Given the description of an element on the screen output the (x, y) to click on. 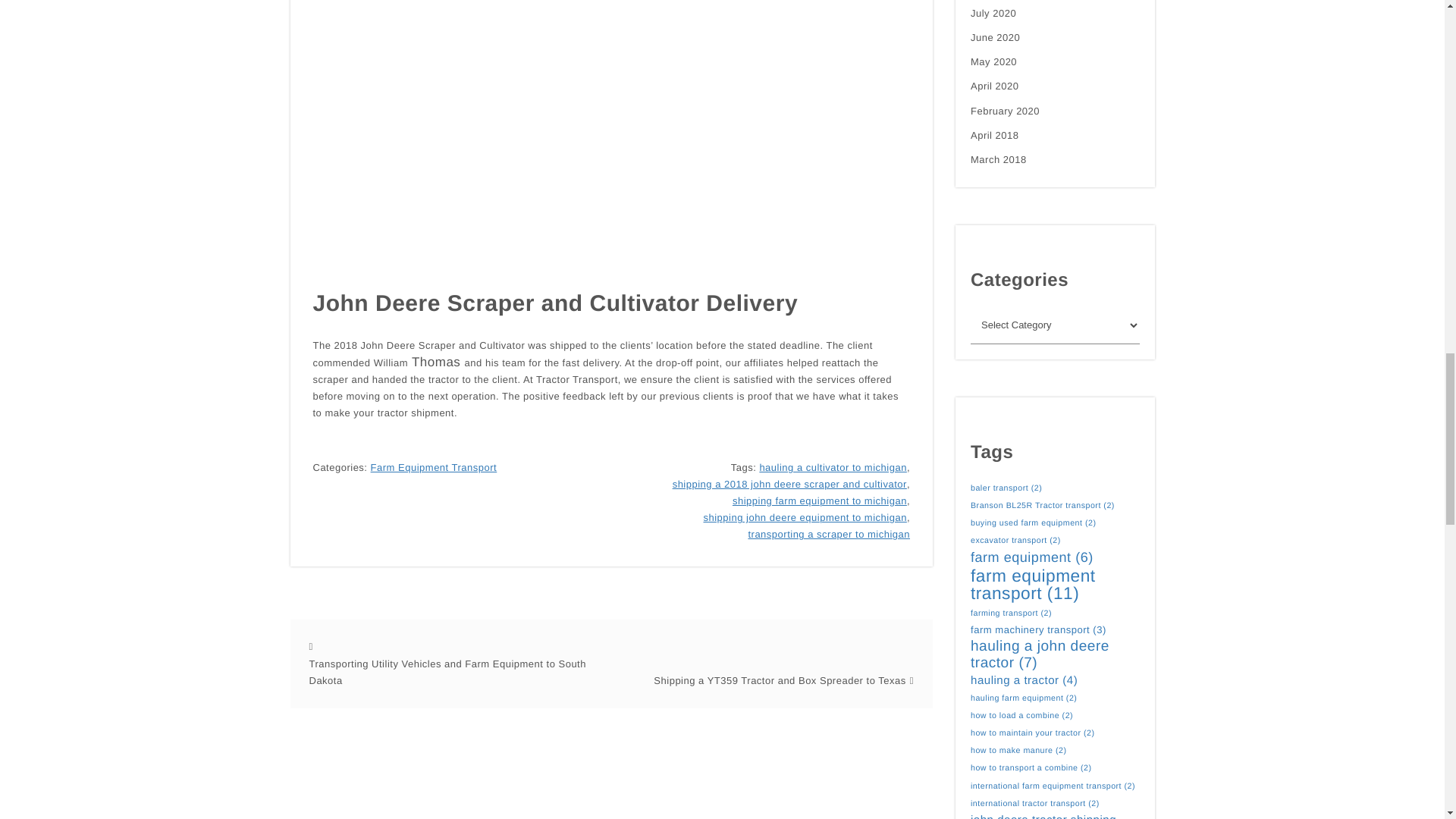
Farm Equipment Transport (434, 467)
shipping john deere equipment to michigan (804, 517)
hauling a cultivator to michigan (832, 467)
transporting a scraper to michigan (829, 534)
Shipping a YT359 Tractor and Box Spreader to Texas (779, 680)
shipping a 2018 john deere scraper and cultivator (789, 484)
shipping farm equipment to michigan (819, 501)
